Given the description of an element on the screen output the (x, y) to click on. 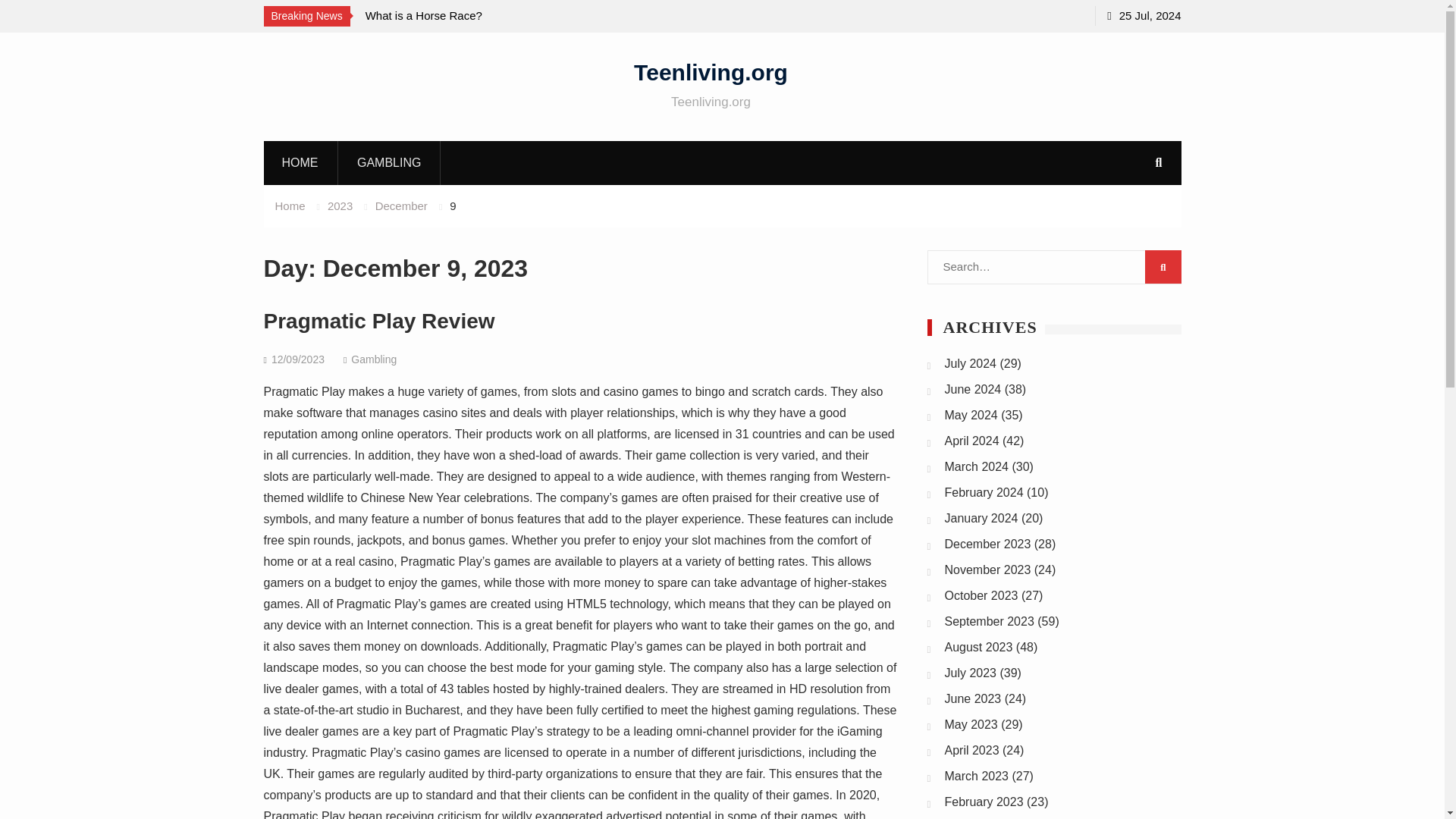
September 2023 (988, 621)
2023 (339, 205)
July 2024 (970, 363)
October 2023 (980, 594)
HOME (299, 162)
December 2023 (987, 543)
February 2024 (983, 492)
Teenliving.org (710, 71)
June 2023 (972, 698)
GAMBLING (389, 162)
Gambling (373, 358)
December (401, 205)
Search for: (1053, 267)
March 2024 (976, 466)
March 2023 (976, 775)
